Given the description of an element on the screen output the (x, y) to click on. 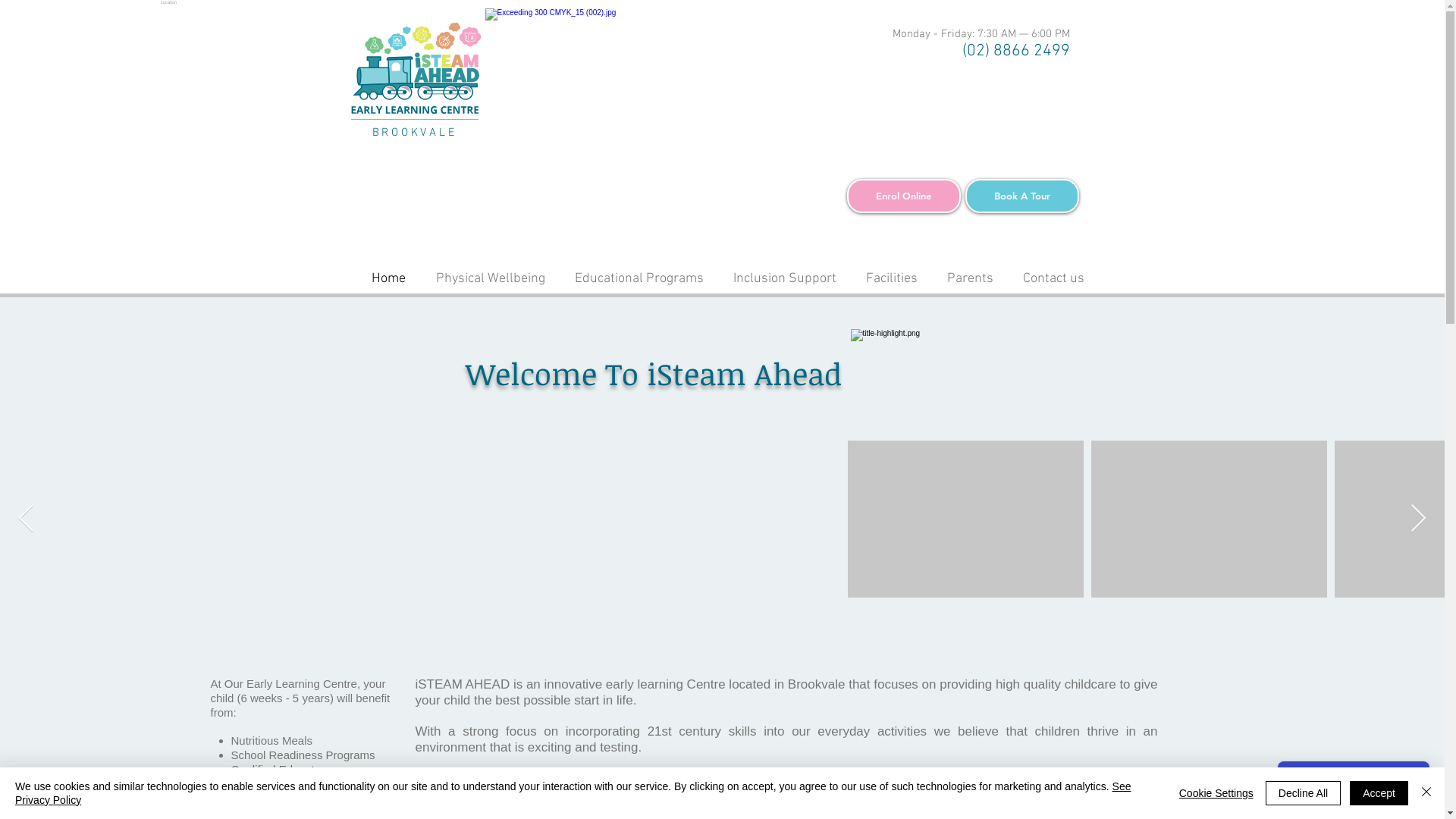
Enrol Online Element type: text (903, 195)
Home Element type: text (388, 278)
Educational Programs Element type: text (638, 278)
Inclusion Support Element type: text (784, 278)
Facilities Element type: text (890, 278)
Physical Wellbeing Element type: text (489, 278)
See Privacy Policy Element type: text (572, 793)
Accept Element type: text (1378, 793)
Parents Element type: text (970, 278)
Book A Tour Element type: text (1021, 195)
Decline All Element type: text (1302, 793)
Contact us Element type: text (1053, 278)
